Given the description of an element on the screen output the (x, y) to click on. 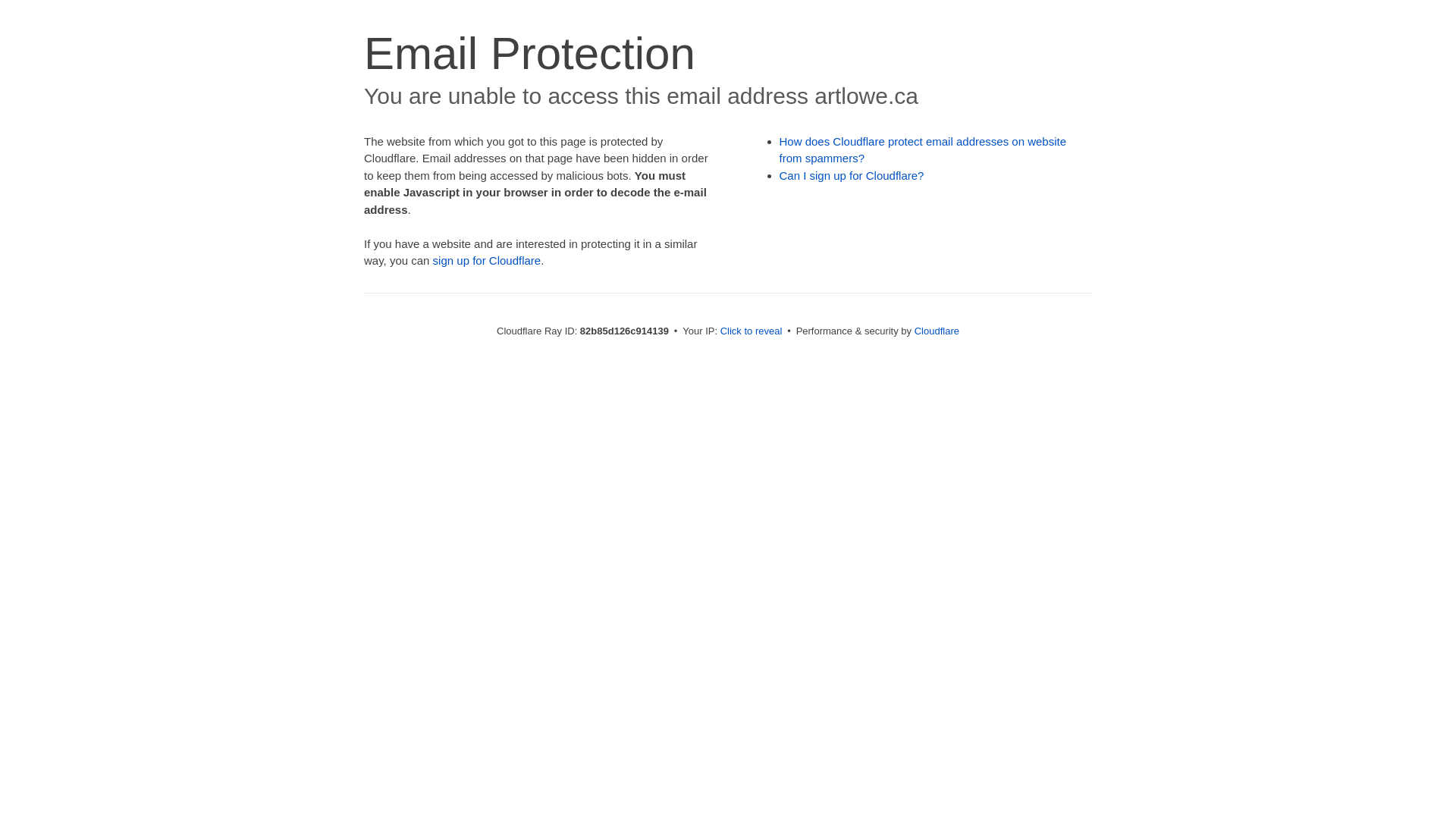
Cloudflare Element type: text (936, 330)
sign up for Cloudflare Element type: text (487, 260)
Can I sign up for Cloudflare? Element type: text (851, 175)
Click to reveal Element type: text (751, 330)
